Given the description of an element on the screen output the (x, y) to click on. 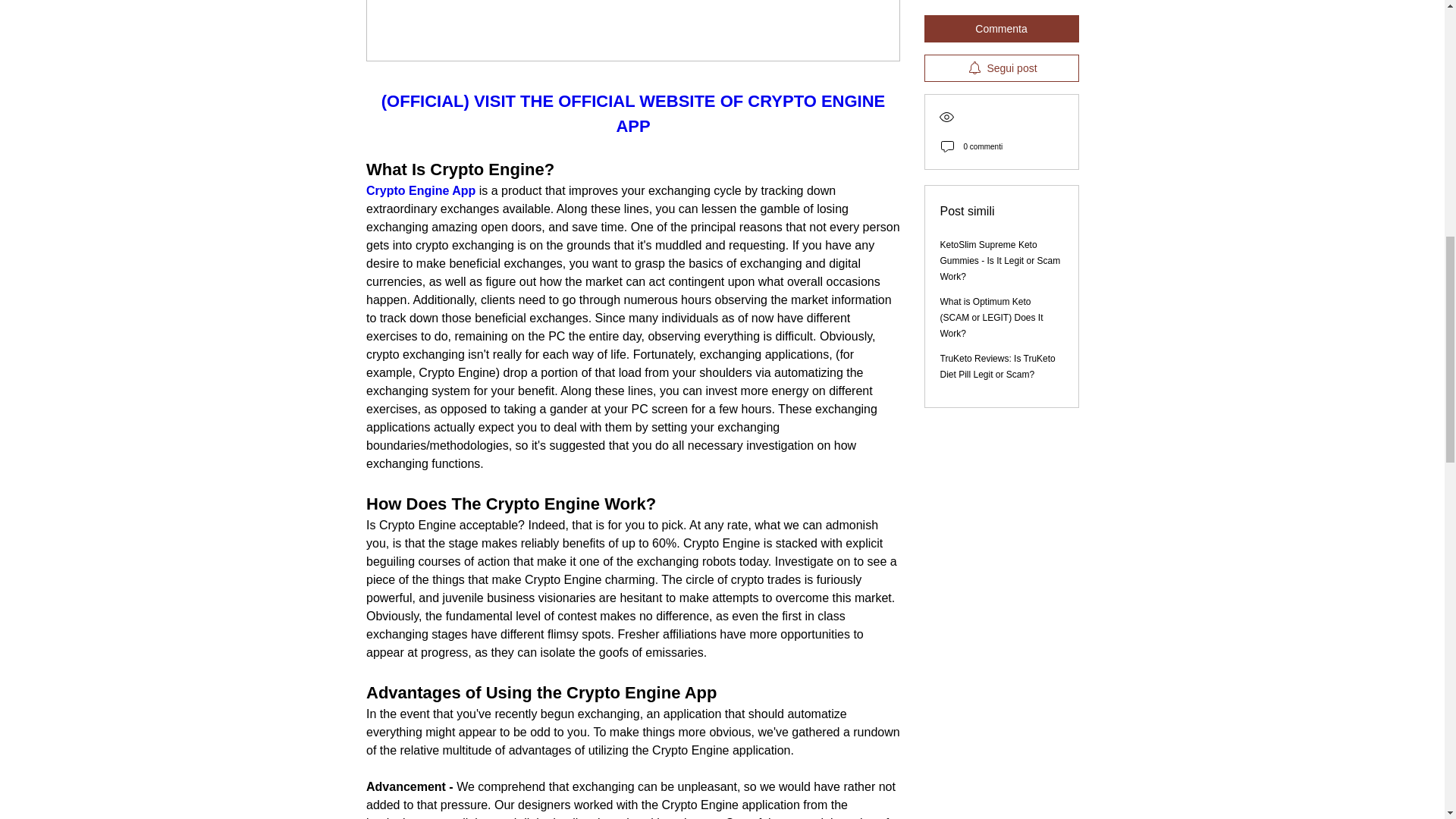
Crypto Engine App (419, 190)
